Given the description of an element on the screen output the (x, y) to click on. 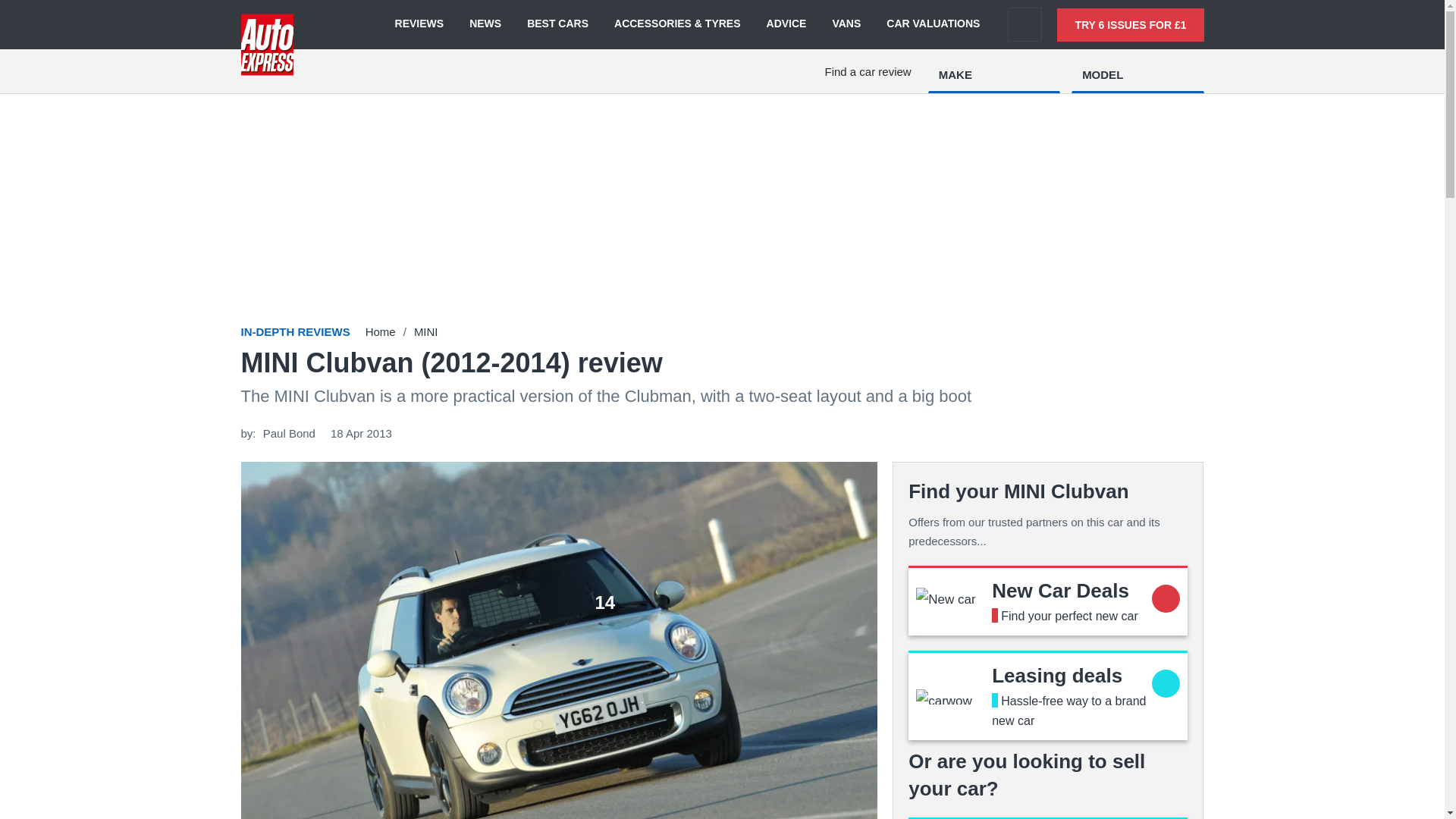
Search (1024, 24)
VANS (845, 24)
ADVICE (786, 24)
NEWS (485, 24)
Search (1024, 24)
BEST CARS (557, 24)
REVIEWS (419, 24)
CAR VALUATIONS (932, 24)
